Given the description of an element on the screen output the (x, y) to click on. 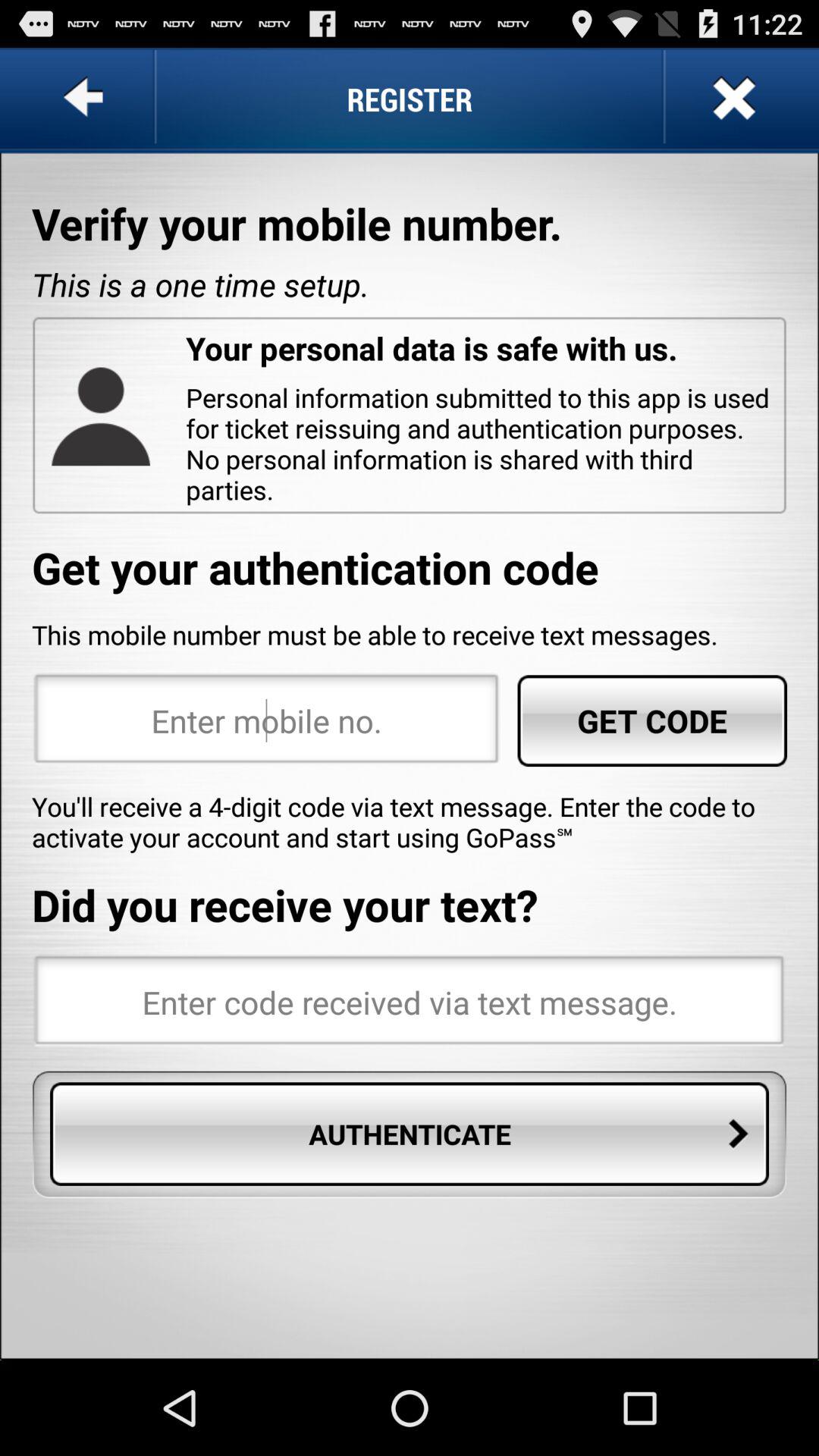
enter the code (409, 1001)
